Given the description of an element on the screen output the (x, y) to click on. 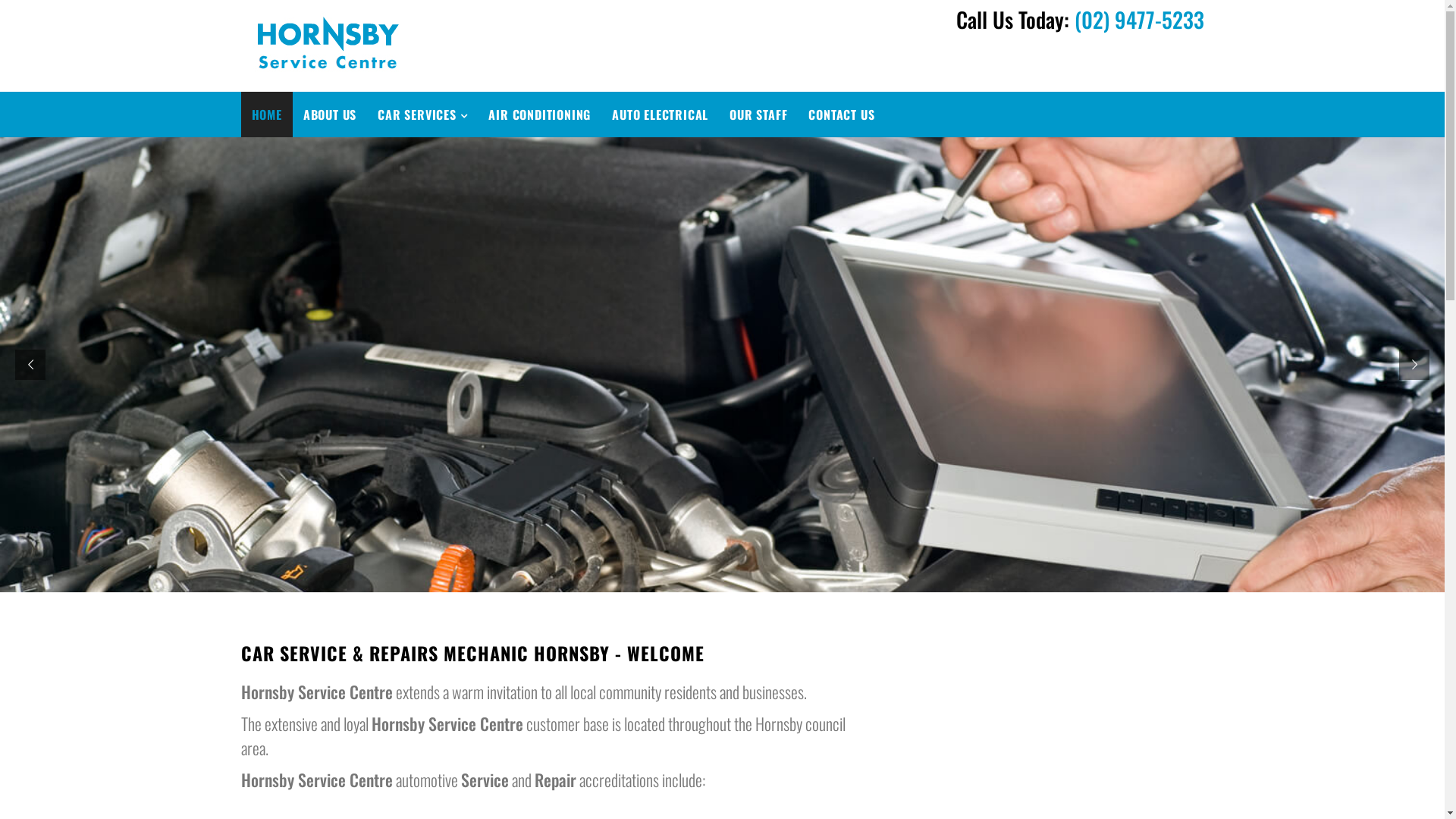
CAR SERVICES Element type: text (422, 114)
AIR CONDITIONING Element type: text (539, 114)
AUTO ELECTRICAL Element type: text (659, 114)
HOME Element type: text (266, 114)
(02) 9477-5233 Element type: text (1138, 18)
CONTACT US Element type: text (840, 114)
ABOUT US Element type: text (329, 114)
OUR STAFF Element type: text (757, 114)
